Given the description of an element on the screen output the (x, y) to click on. 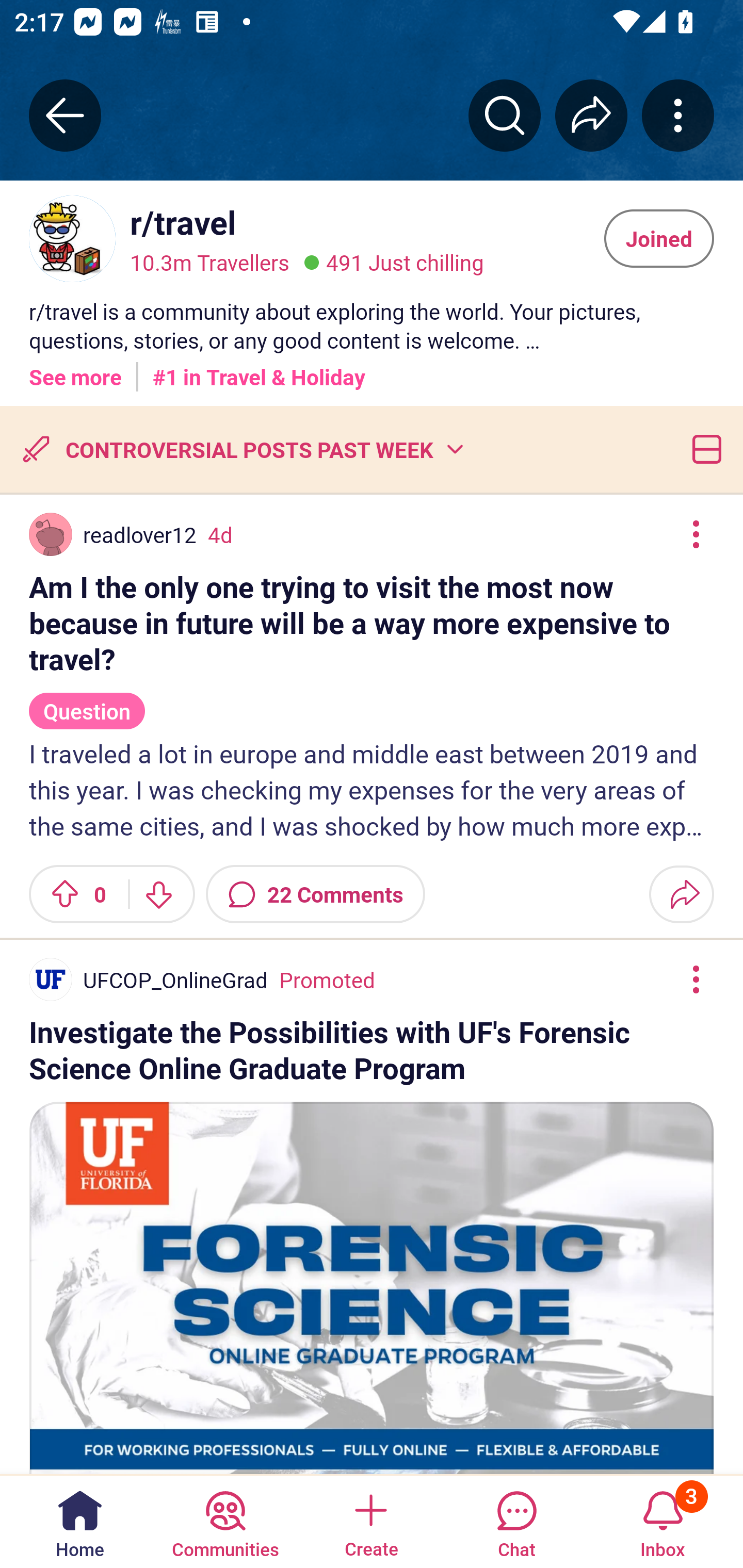
Back (64, 115)
Search r/﻿travel (504, 115)
Share r/﻿travel (591, 115)
More community actions (677, 115)
Controversial posts CONTROVERSIAL POSTS PAST WEEK (241, 449)
Card (703, 449)
Question (86, 701)
Home (80, 1520)
Communities (225, 1520)
Create a post Create (370, 1520)
Chat (516, 1520)
Inbox, has 3 notifications 3 Inbox (662, 1520)
